Given the description of an element on the screen output the (x, y) to click on. 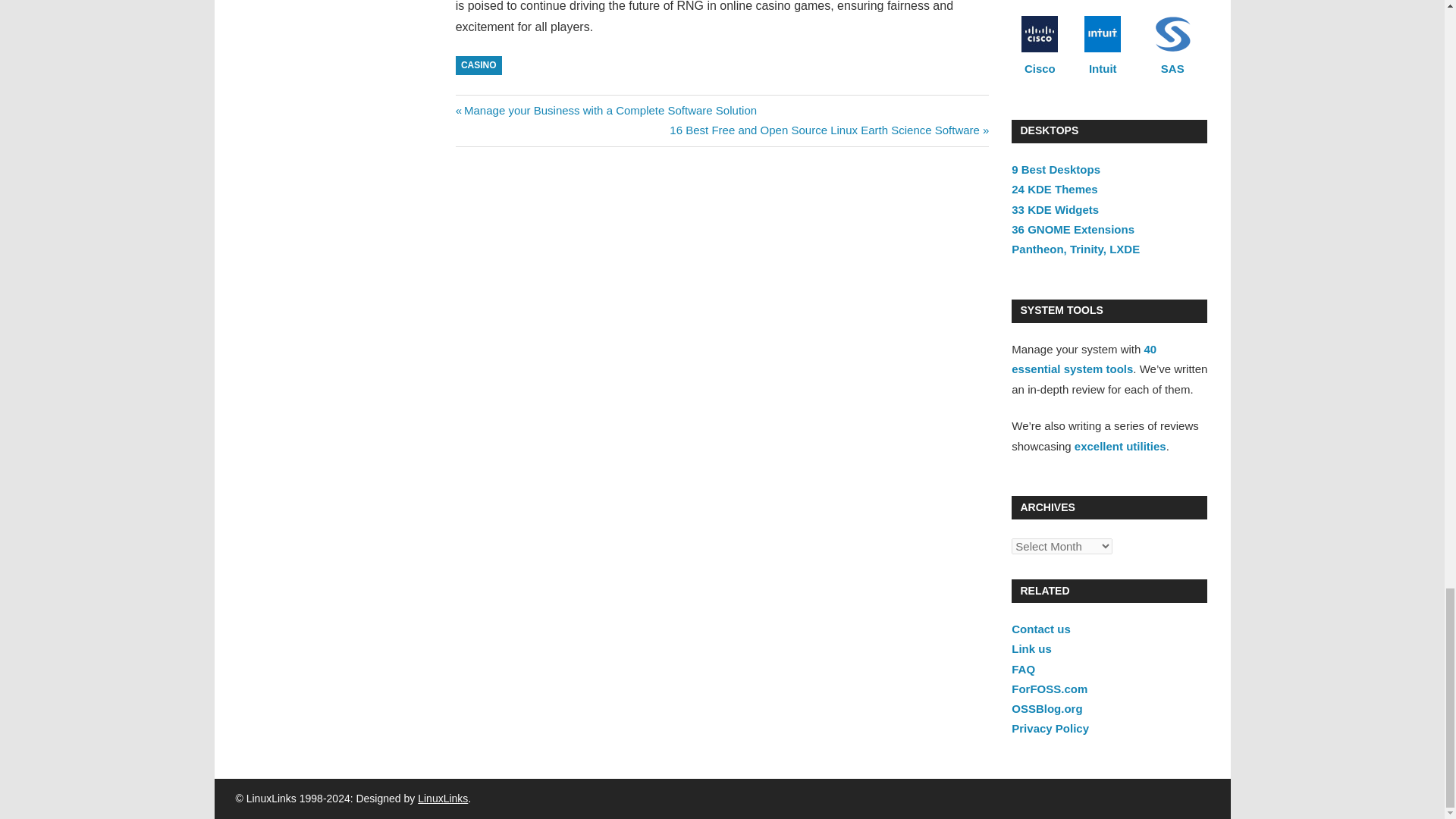
CASINO (478, 65)
